Given the description of an element on the screen output the (x, y) to click on. 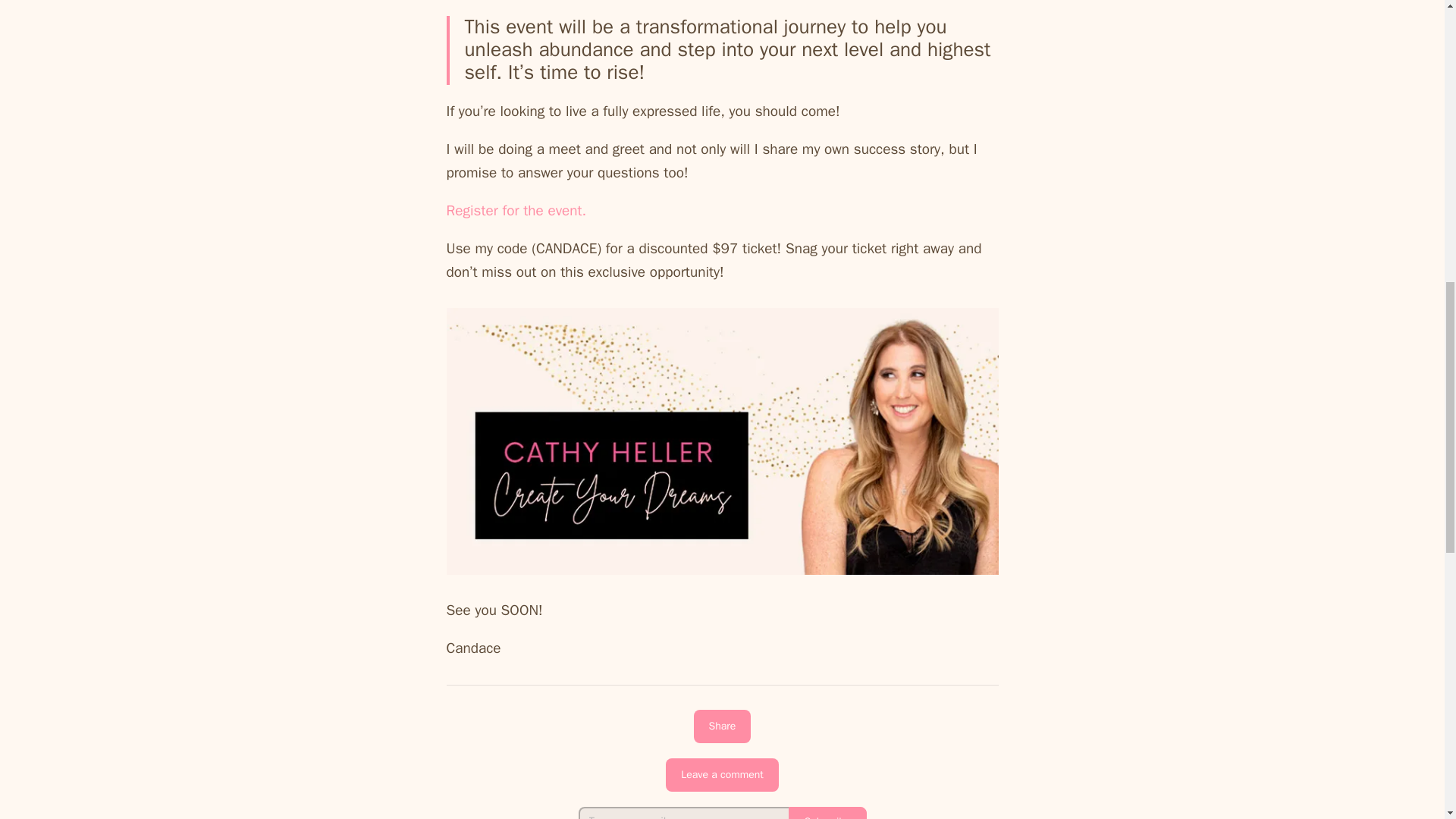
Share (722, 726)
Subscribe (827, 812)
Leave a comment (721, 774)
Register for the event. (515, 210)
